Given the description of an element on the screen output the (x, y) to click on. 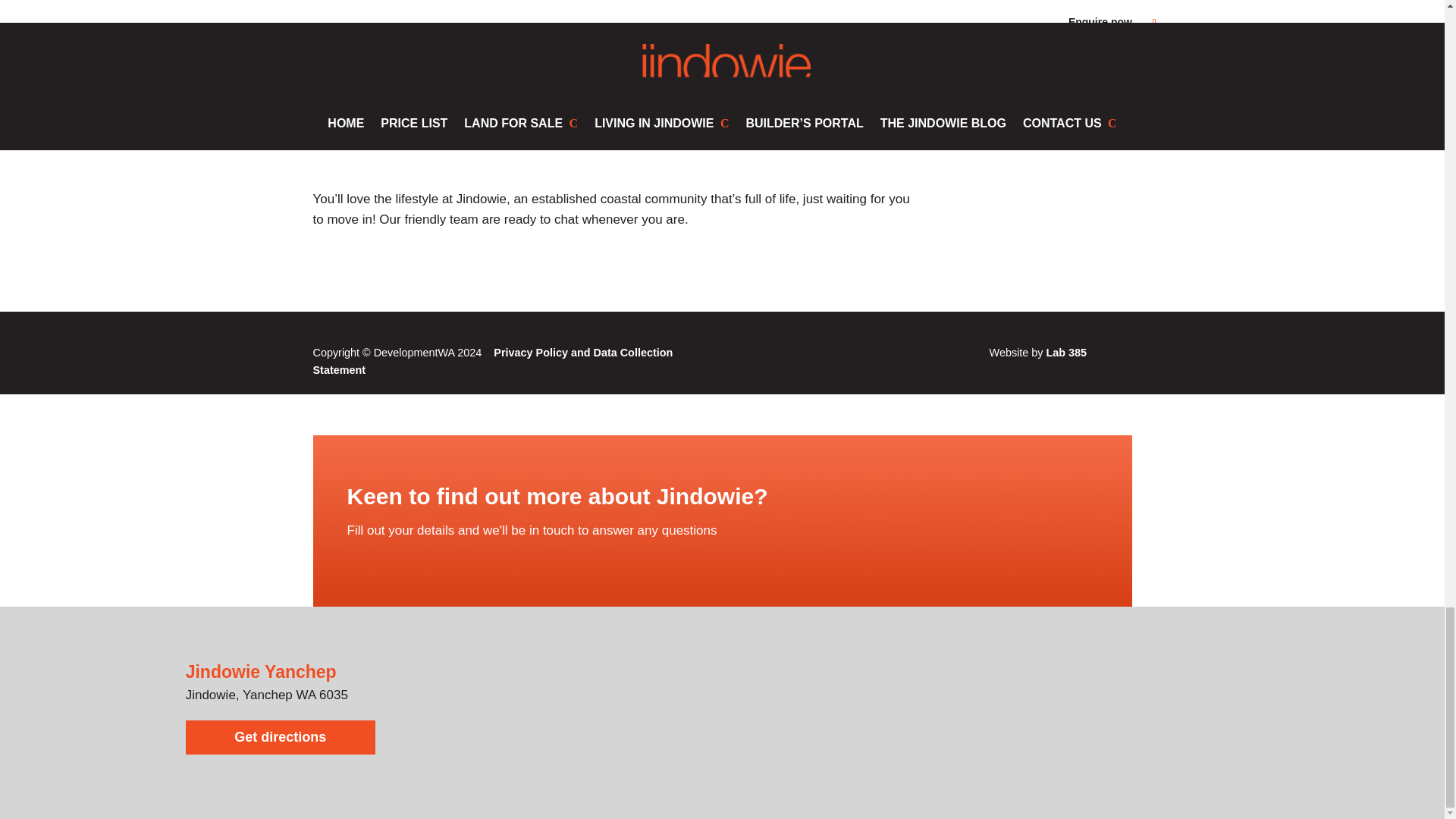
Lab 385 (1066, 352)
Get directions (280, 737)
Privacy Policy and Data Collection Statement (492, 360)
